Given the description of an element on the screen output the (x, y) to click on. 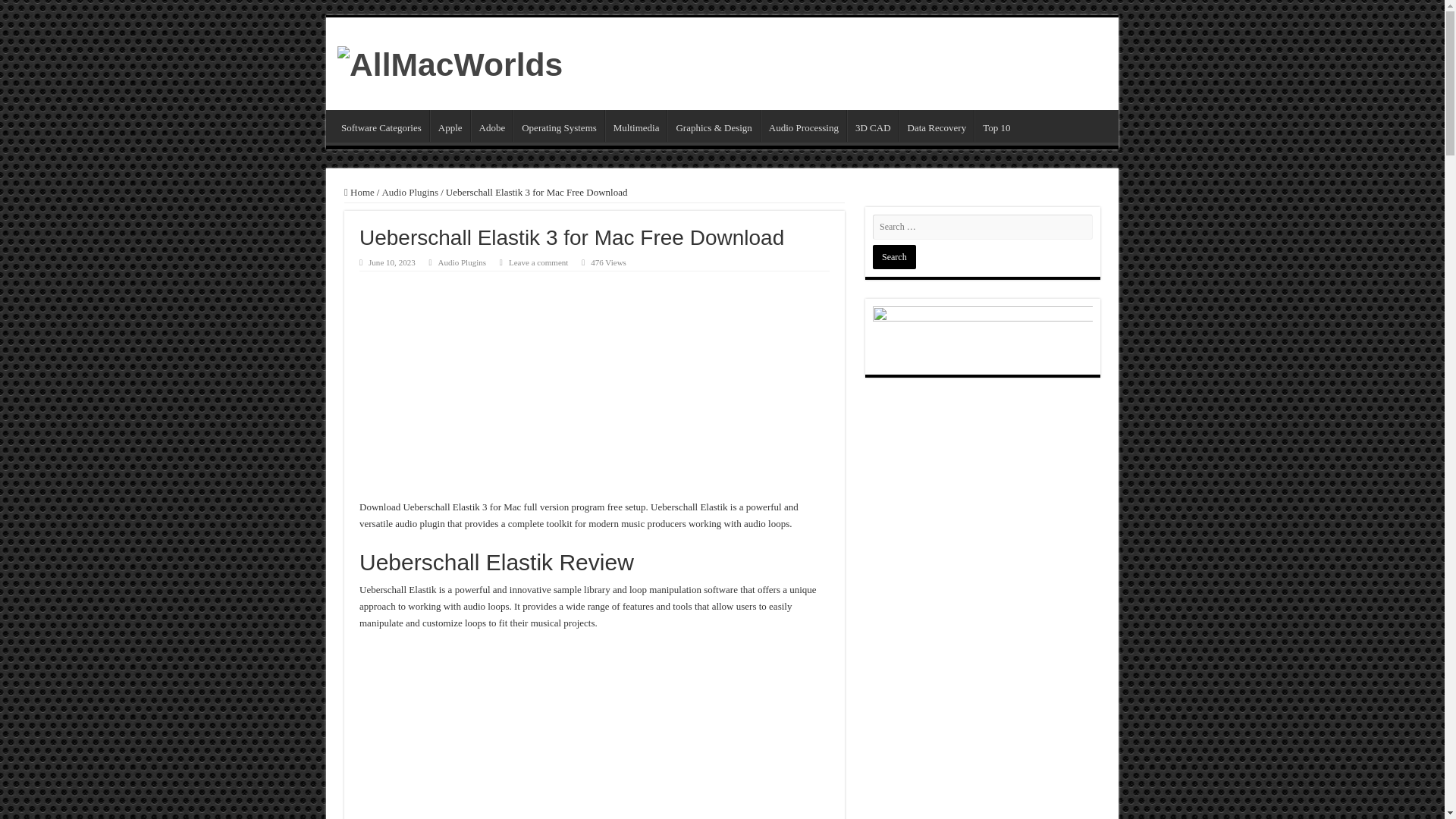
Apple (449, 125)
Search (893, 256)
Software Categories (381, 125)
Audio Plugins (462, 261)
Data Recovery (936, 125)
Multimedia (635, 125)
Top 10 (995, 125)
Operating Systems (558, 125)
Audio Processing (802, 125)
3D CAD (872, 125)
